Given the description of an element on the screen output the (x, y) to click on. 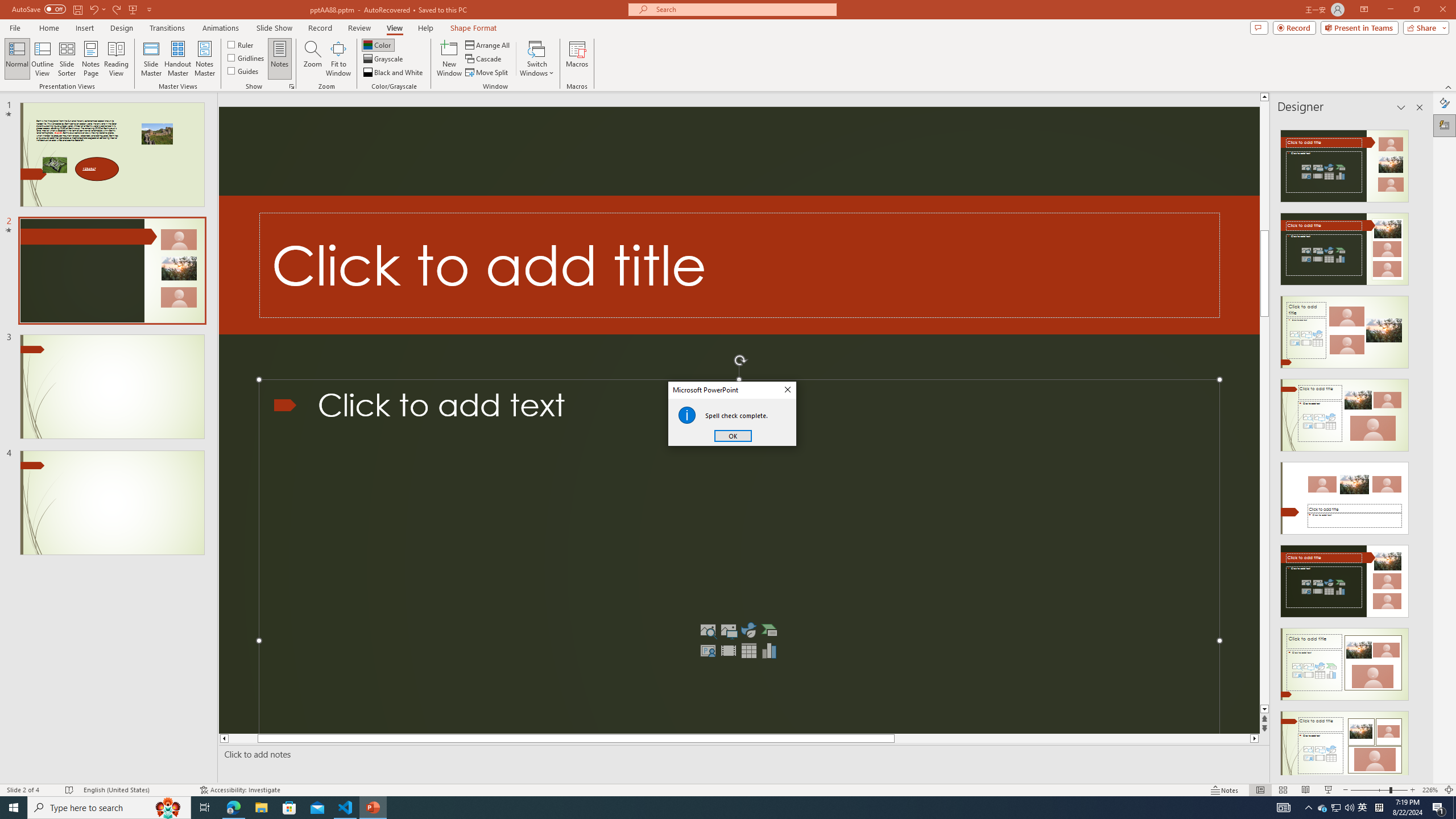
Black and White (393, 72)
